Given the description of an element on the screen output the (x, y) to click on. 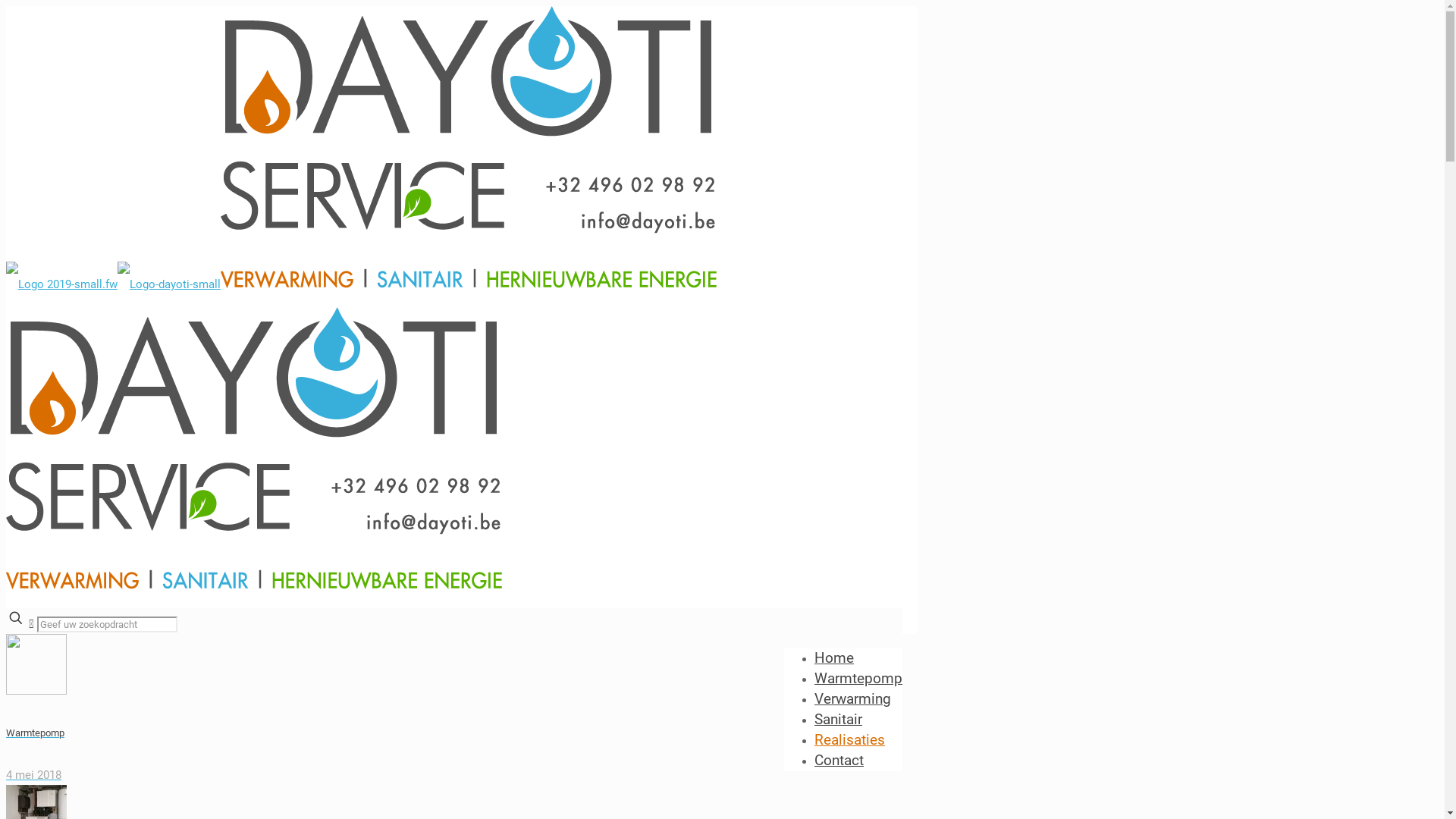
Realisaties Element type: text (849, 738)
Dayoti Element type: hover (361, 434)
Warmtepomp Element type: text (858, 678)
Verwarming Element type: text (852, 697)
Sanitair Element type: text (838, 719)
Home Element type: text (833, 657)
Warmtepomp
4 mei 2018 Element type: text (461, 708)
Contact Element type: text (838, 760)
